Given the description of an element on the screen output the (x, y) to click on. 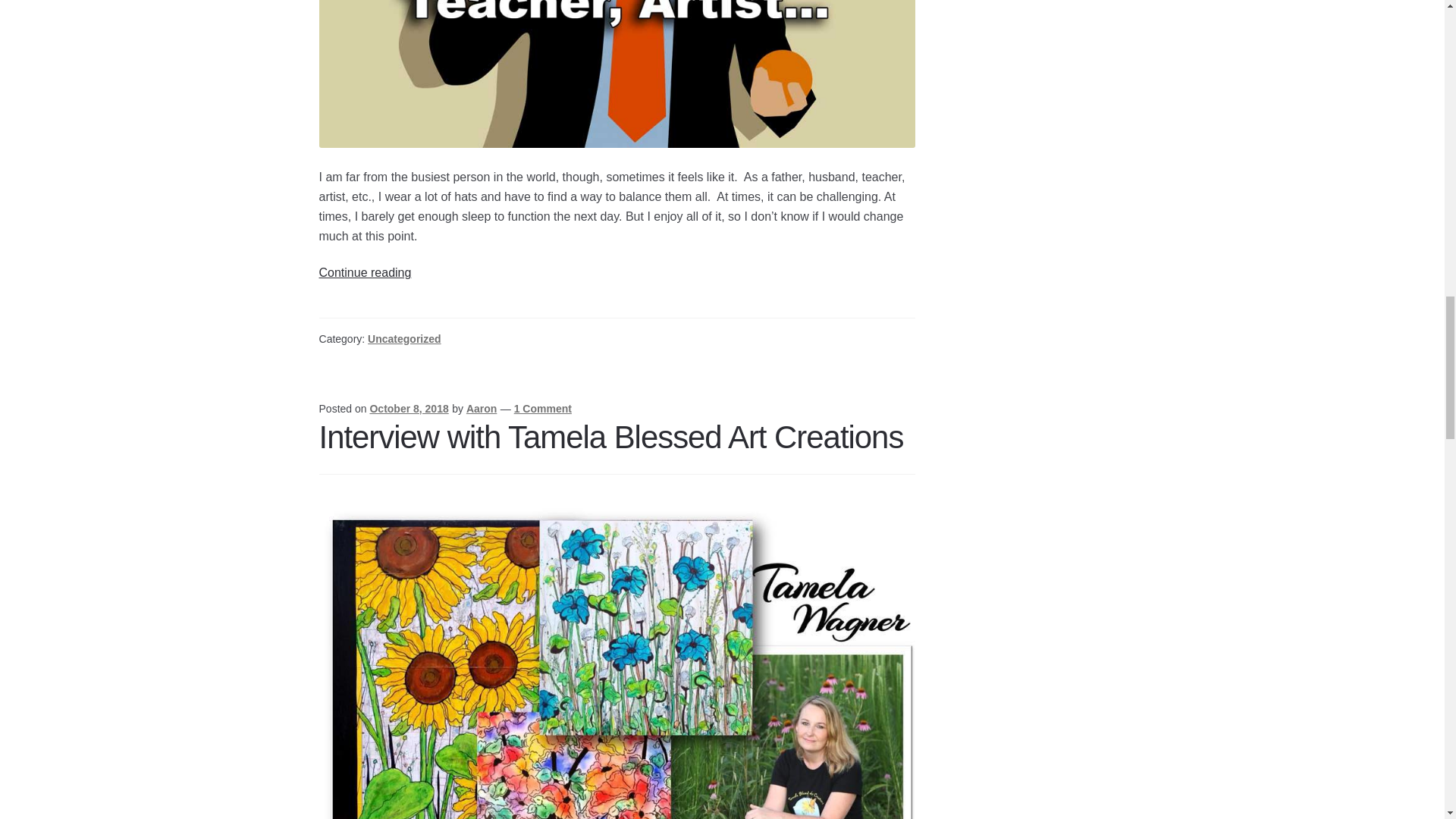
October 8, 2018 (408, 408)
Uncategorized (404, 338)
